Given the description of an element on the screen output the (x, y) to click on. 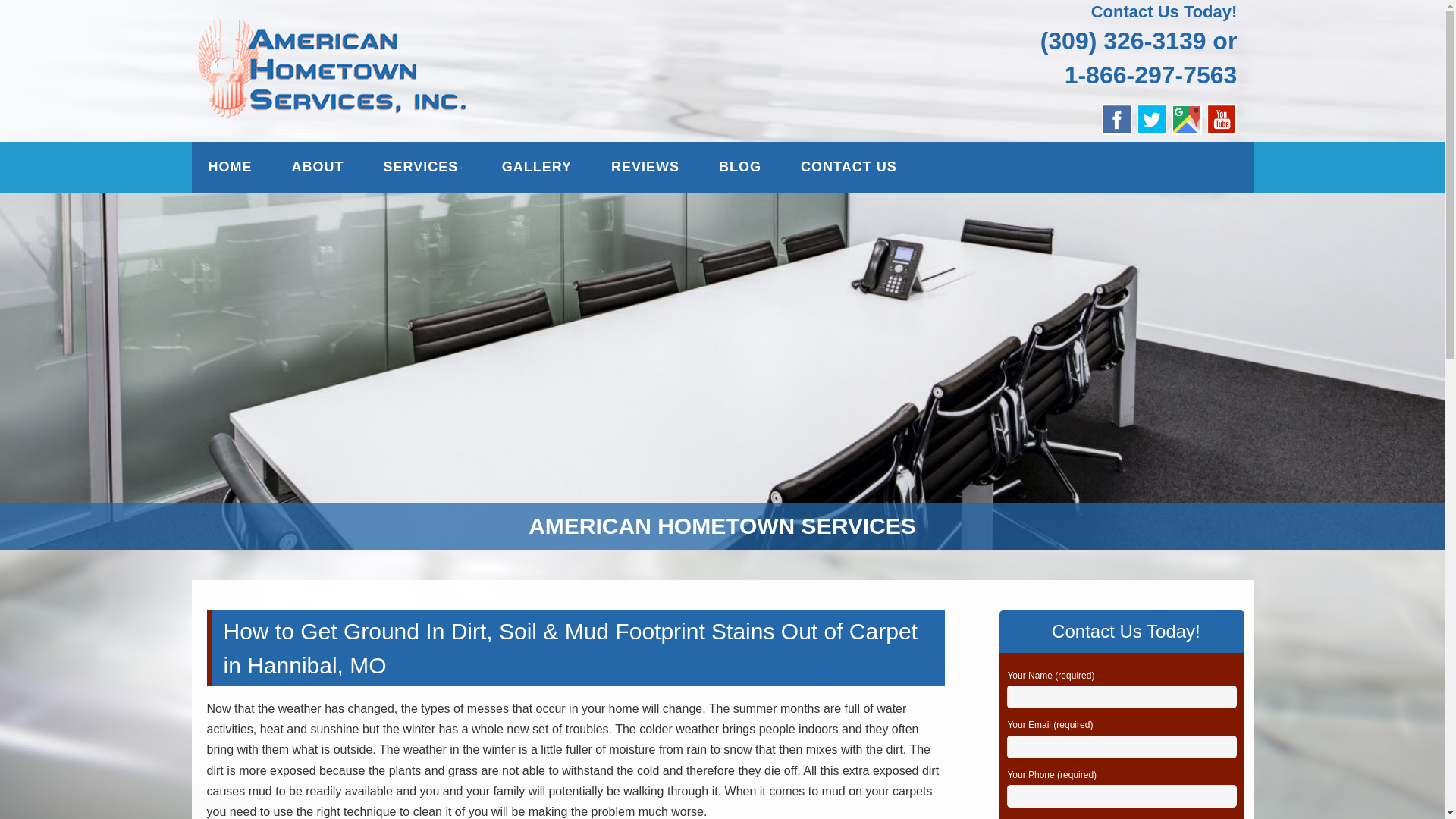
SERVICES (422, 166)
ABOUT (316, 166)
CONTACT US (848, 166)
HOME (229, 166)
BLOG (739, 166)
REVIEWS (645, 166)
GALLERY (537, 166)
